Given the description of an element on the screen output the (x, y) to click on. 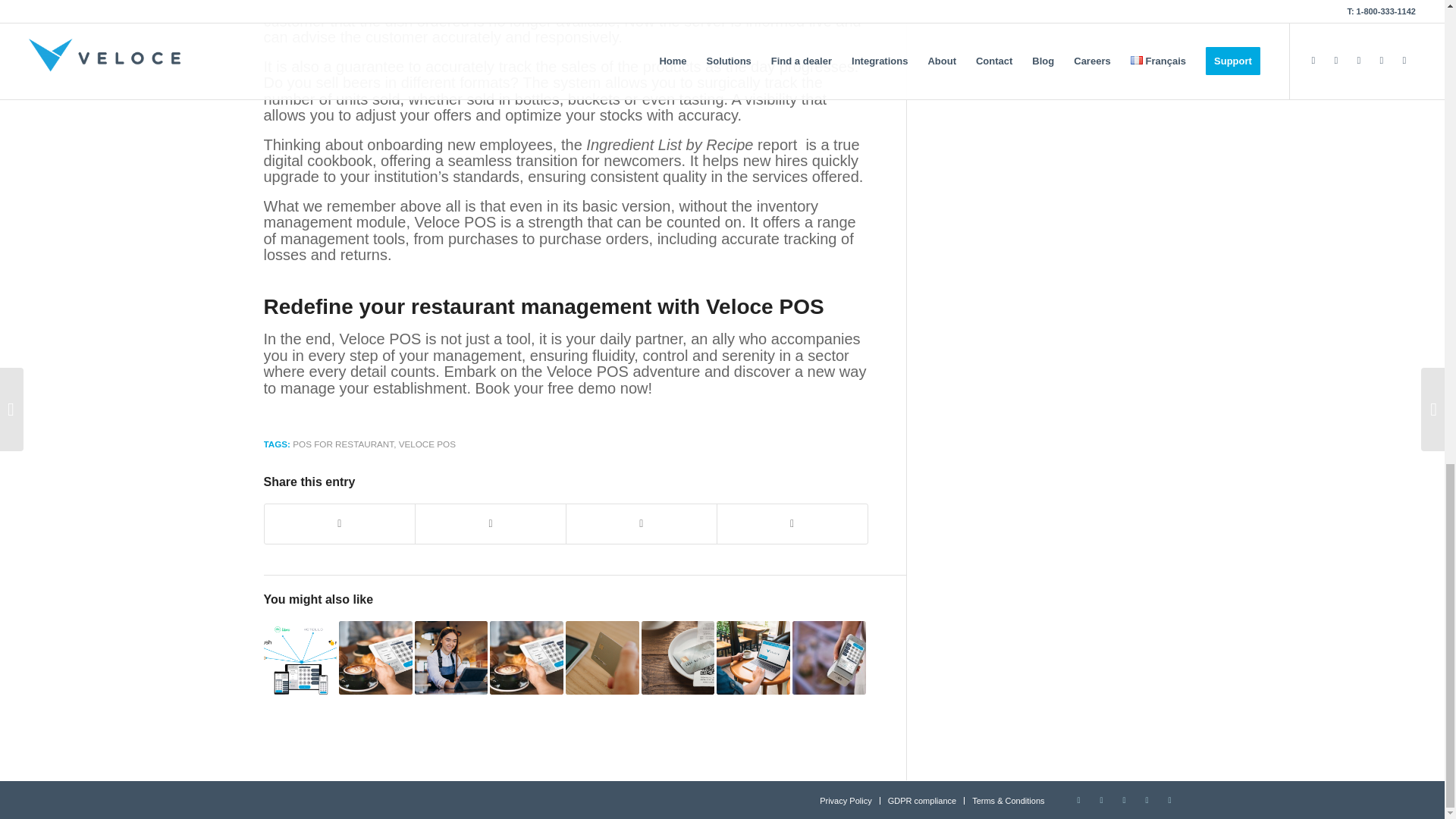
VELOCE POS (426, 443)
POS FOR RESTAURANT (342, 443)
